Given the description of an element on the screen output the (x, y) to click on. 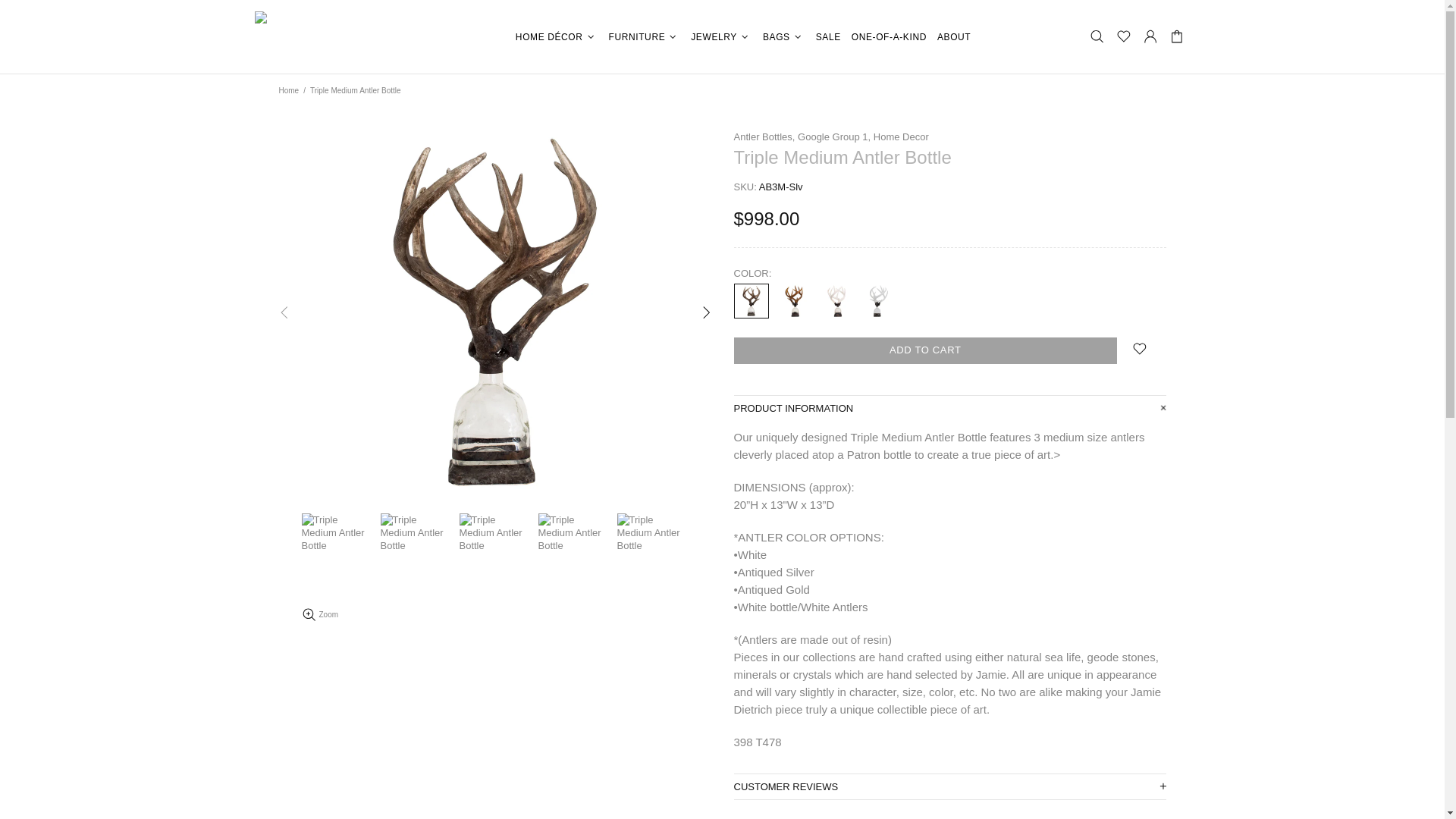
FURNITURE (644, 36)
Jamie-Dietrich-Retail (349, 36)
